Given the description of an element on the screen output the (x, y) to click on. 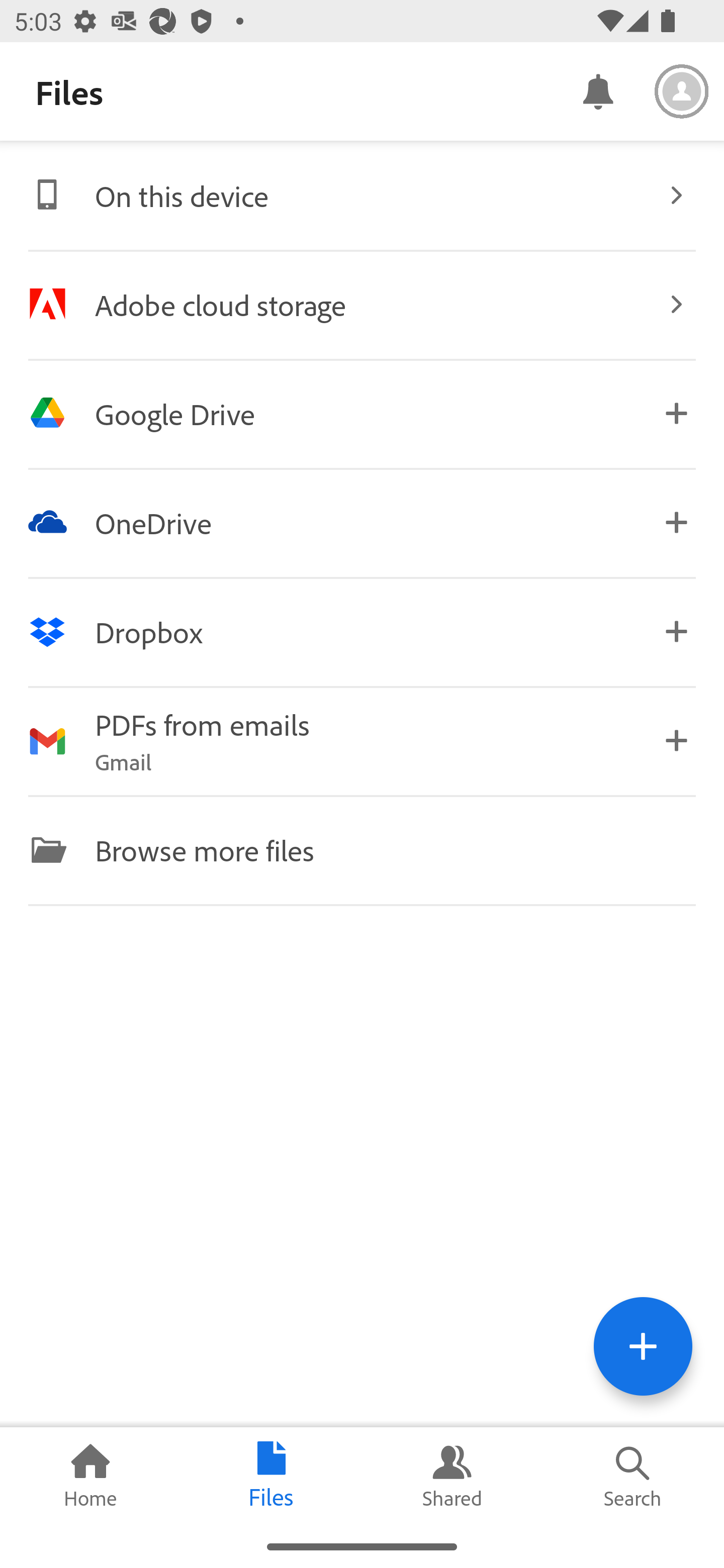
Notifications (597, 90)
Settings (681, 91)
Image On this device (362, 195)
Image Adobe cloud storage (362, 304)
Image Google Drive (362, 413)
Image OneDrive (362, 522)
Image Dropbox (362, 631)
Image PDFs from emails Gmail (362, 740)
Image Browse more files (362, 849)
Tools (642, 1345)
Home (90, 1475)
Files (271, 1475)
Shared (452, 1475)
Search (633, 1475)
